Given the description of an element on the screen output the (x, y) to click on. 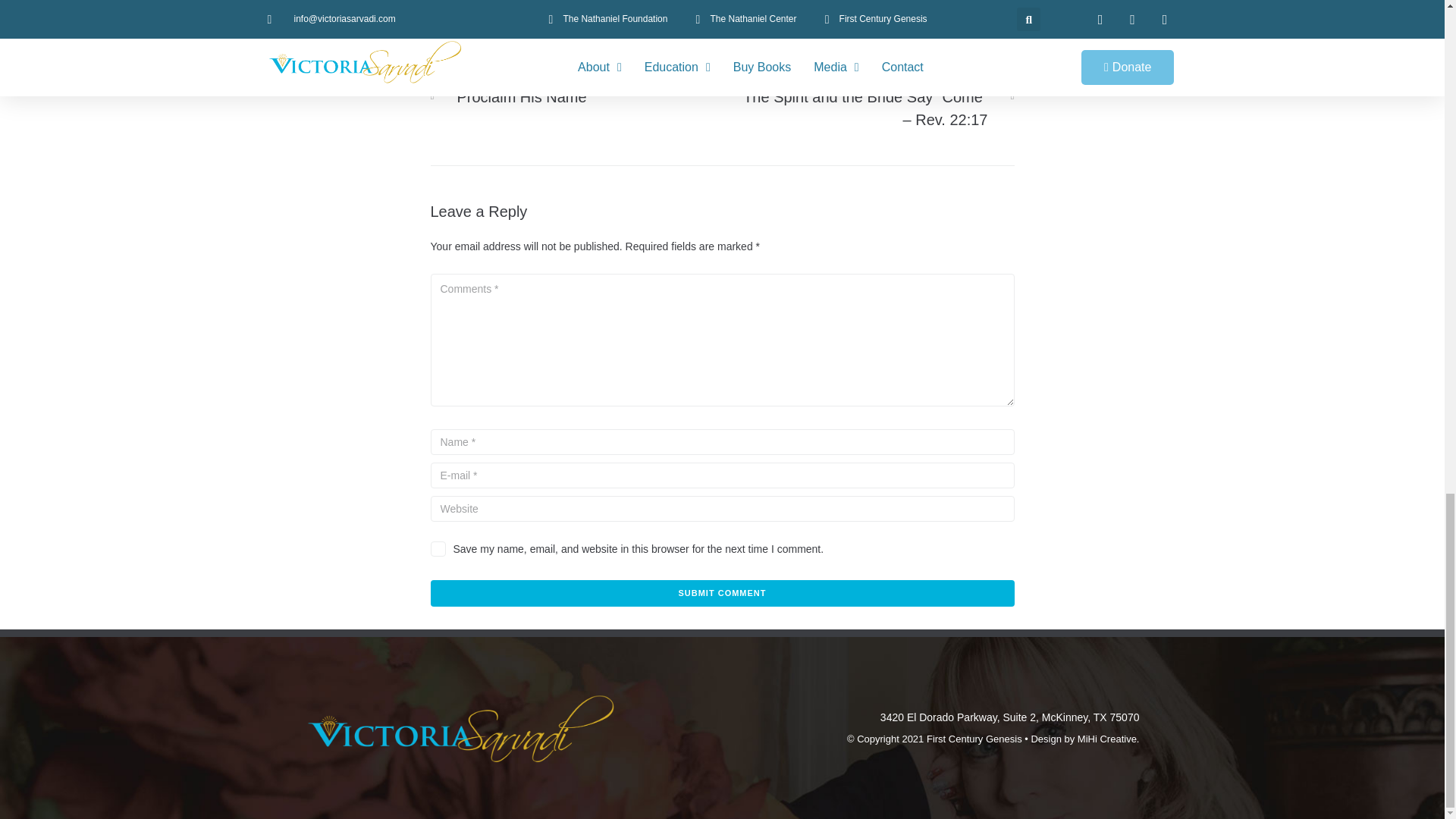
Submit Comment (722, 592)
